Given the description of an element on the screen output the (x, y) to click on. 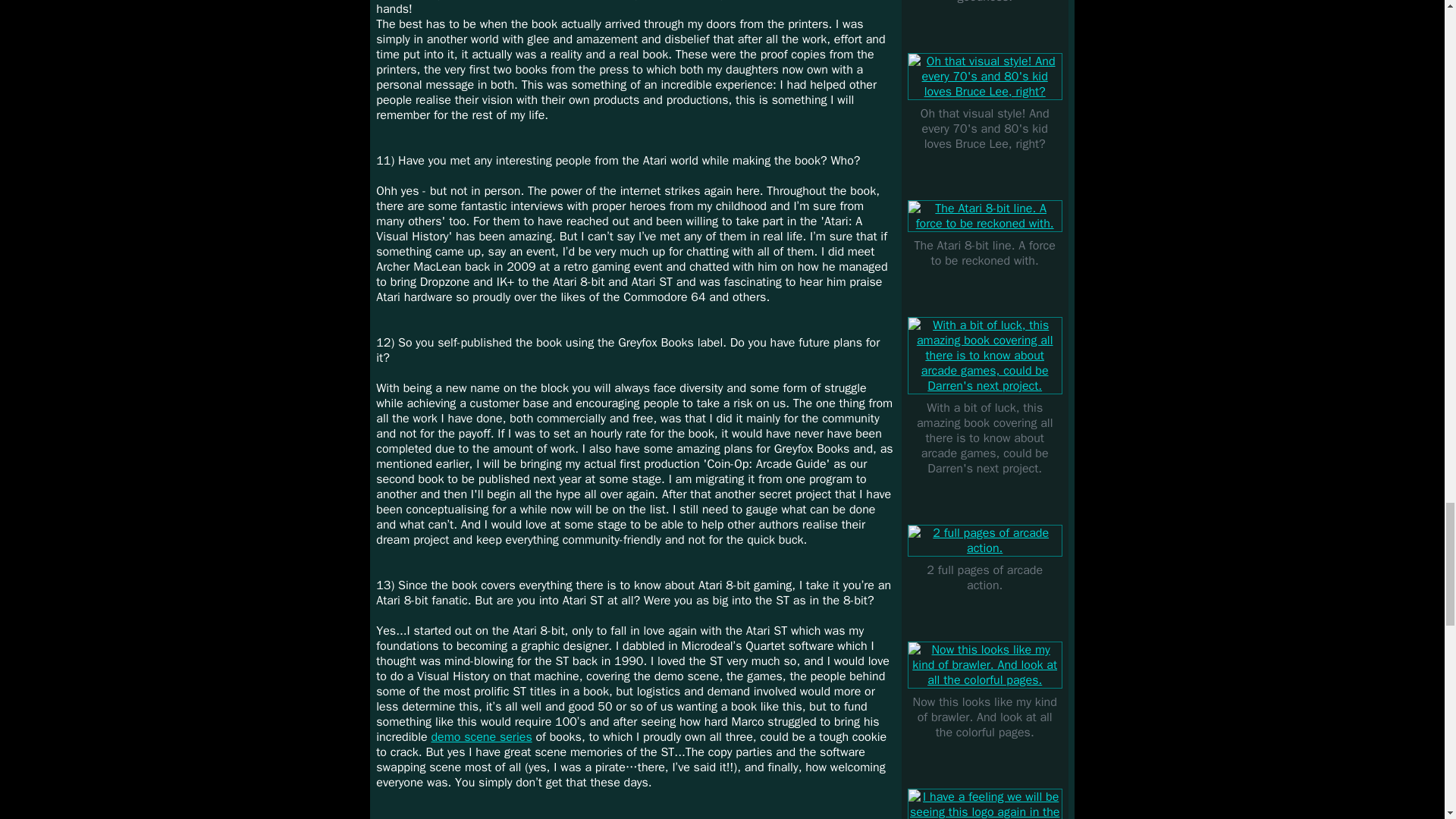
The Atari 8-bit line. A force to be reckoned with. (984, 218)
